Given the description of an element on the screen output the (x, y) to click on. 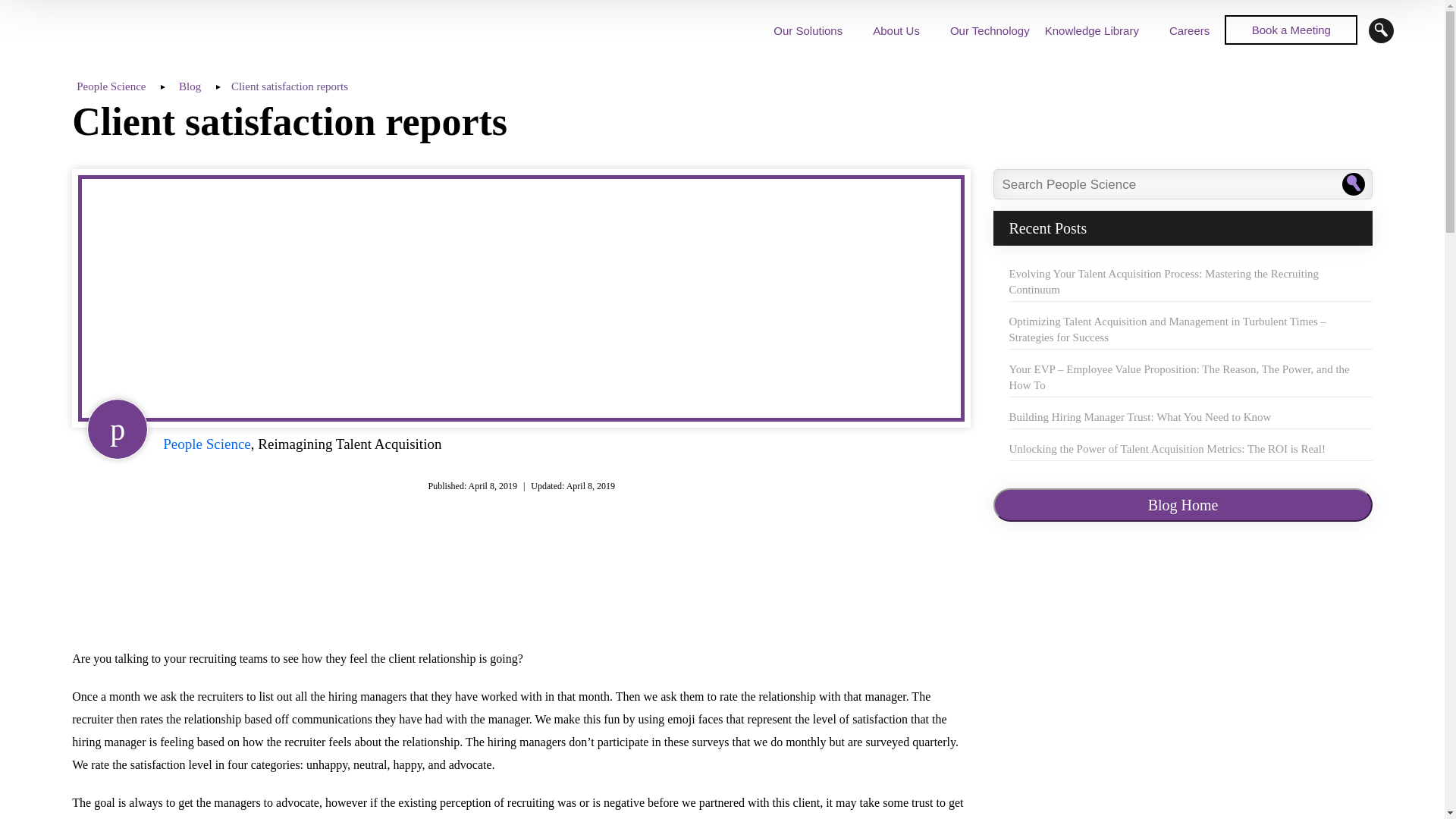
Posts by People Science (206, 443)
About Us (896, 30)
Our Solutions (808, 30)
